Given the description of an element on the screen output the (x, y) to click on. 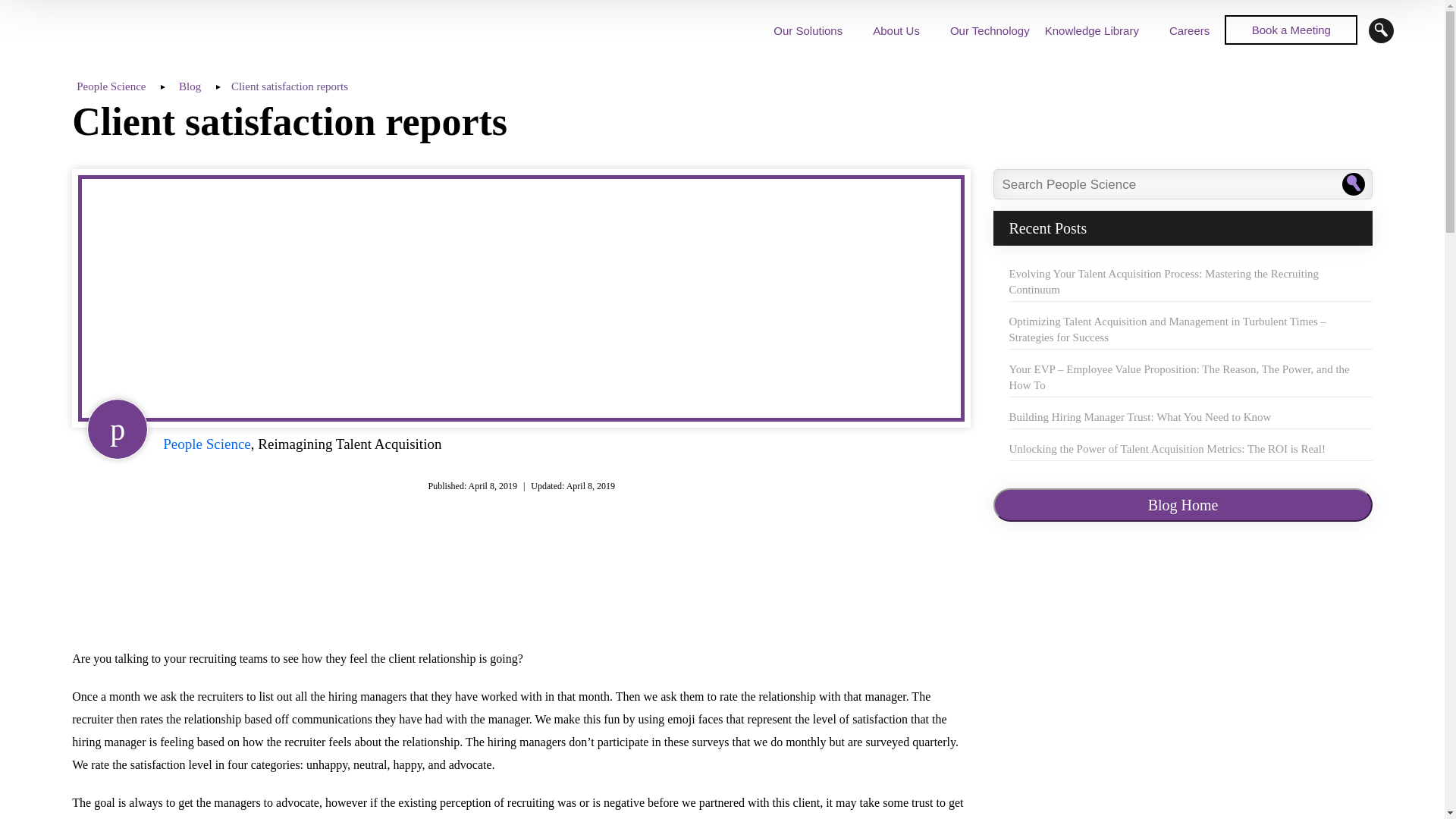
Posts by People Science (206, 443)
About Us (896, 30)
Our Solutions (808, 30)
